Given the description of an element on the screen output the (x, y) to click on. 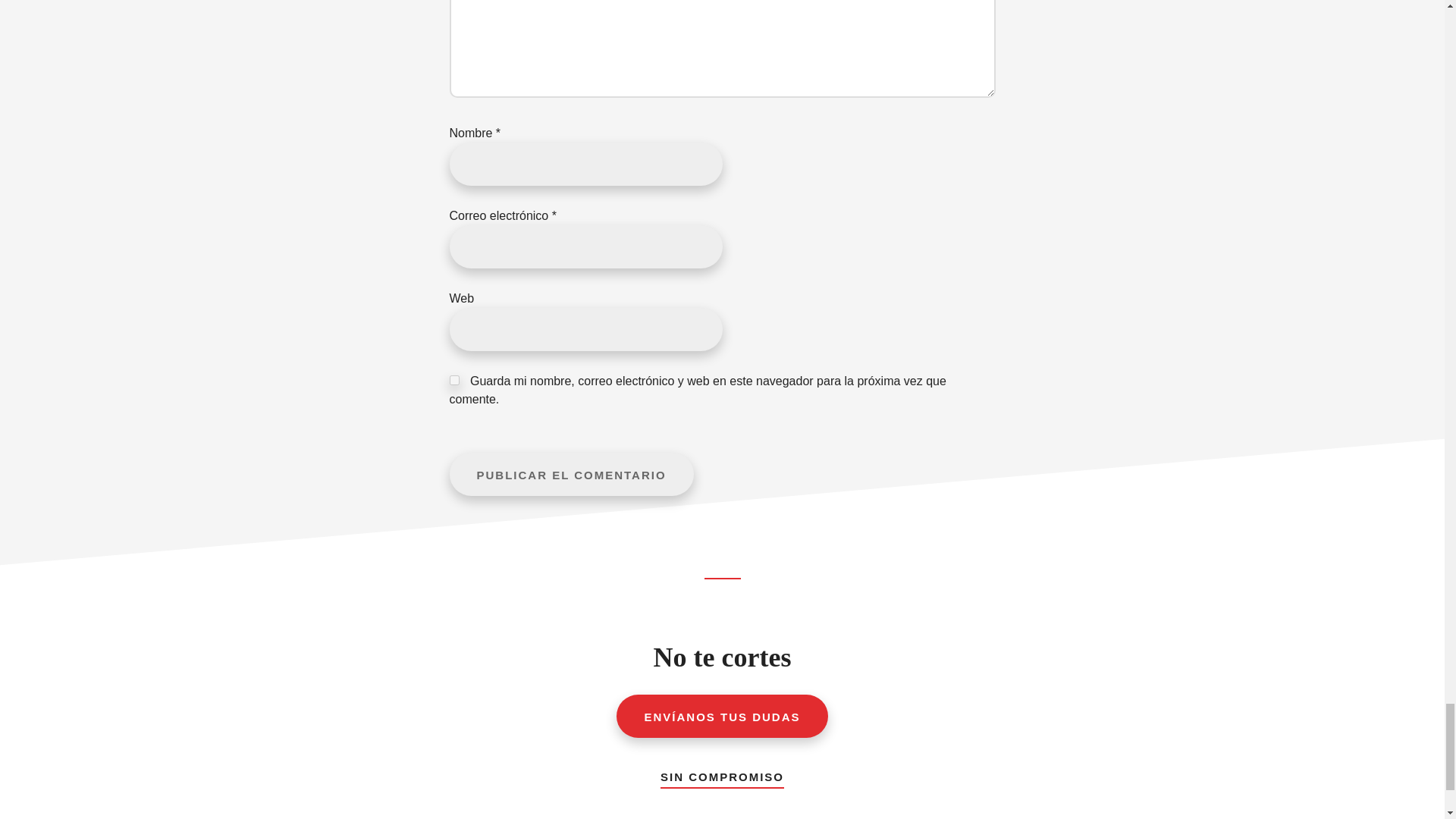
yes (453, 379)
Publicar el comentario (570, 474)
Publicar el comentario (570, 474)
SIN COMPROMISO (722, 773)
